Given the description of an element on the screen output the (x, y) to click on. 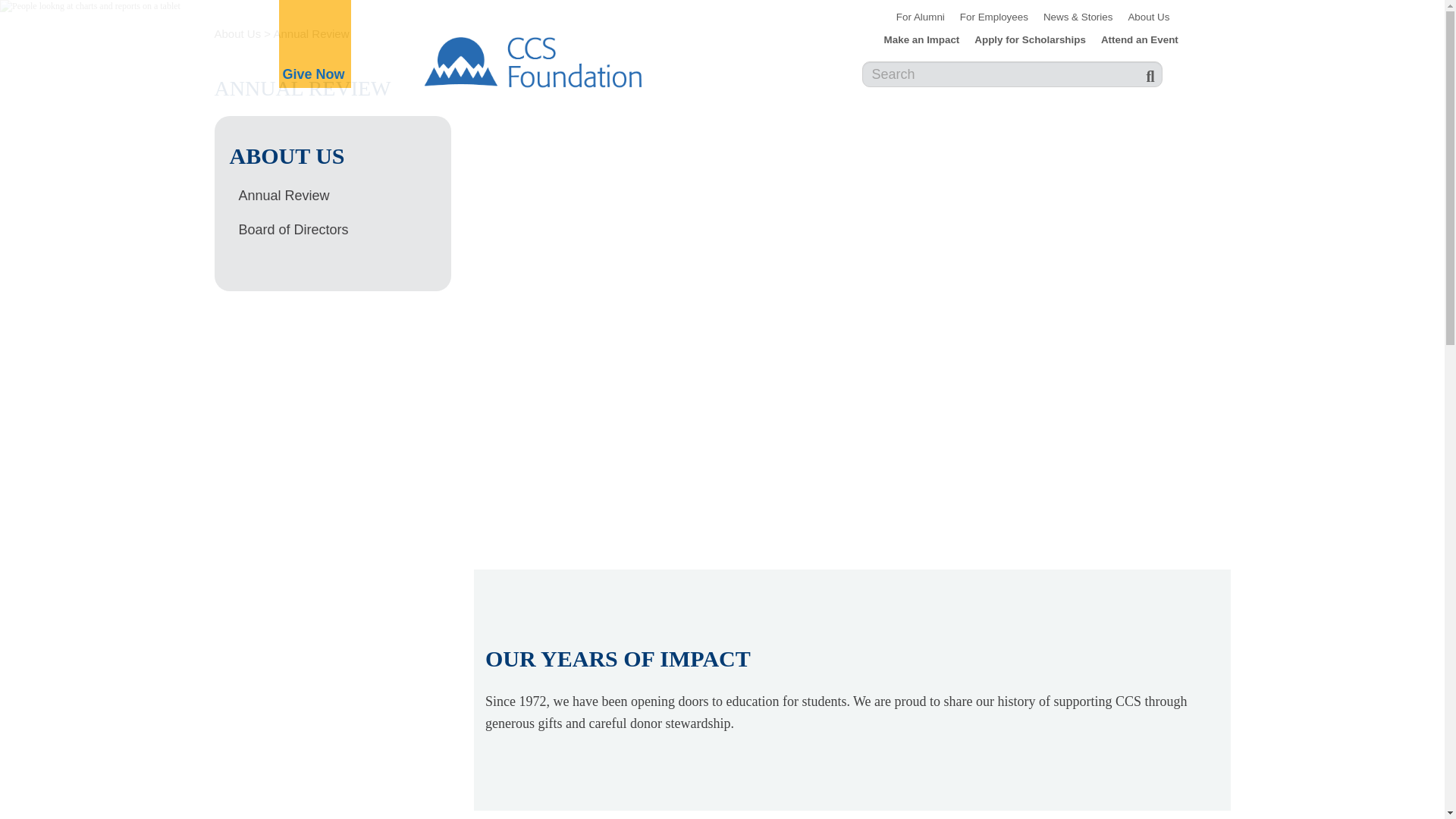
About Us (1147, 17)
About Us (237, 33)
Give Now (312, 74)
Attend an Event (1139, 39)
Make an Impact (922, 39)
Board of Directors (339, 229)
Apply for Scholarships (1029, 39)
ABOUT US (339, 155)
For Employees (993, 17)
For Alumni (920, 17)
